Given the description of an element on the screen output the (x, y) to click on. 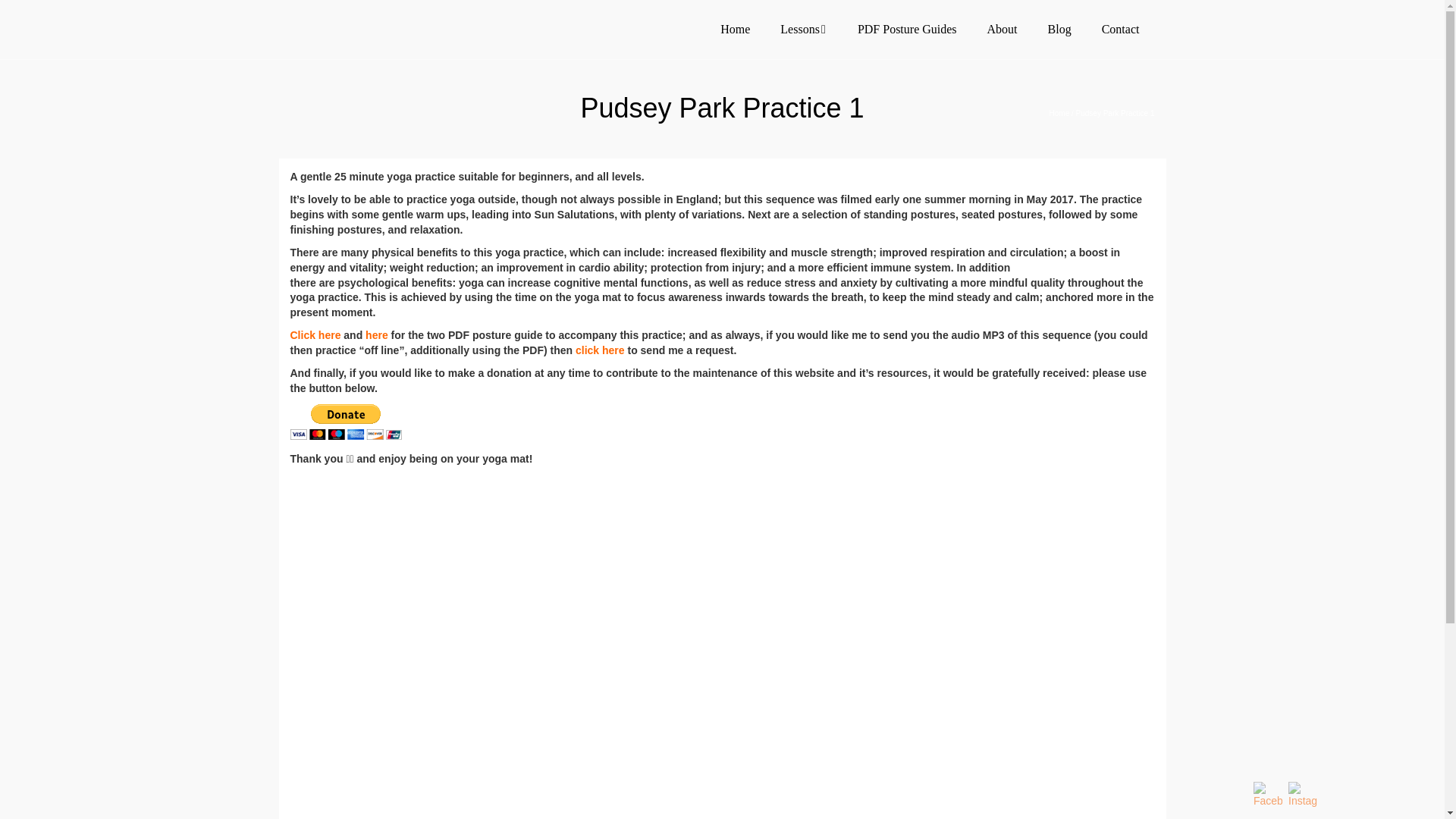
Lessons (804, 29)
Home (734, 29)
Click here (314, 335)
PDF Posture Guides (907, 29)
Facebook (1267, 795)
Contact (1120, 29)
About (1002, 29)
click here (599, 349)
here (376, 335)
Blog (1059, 29)
